Given the description of an element on the screen output the (x, y) to click on. 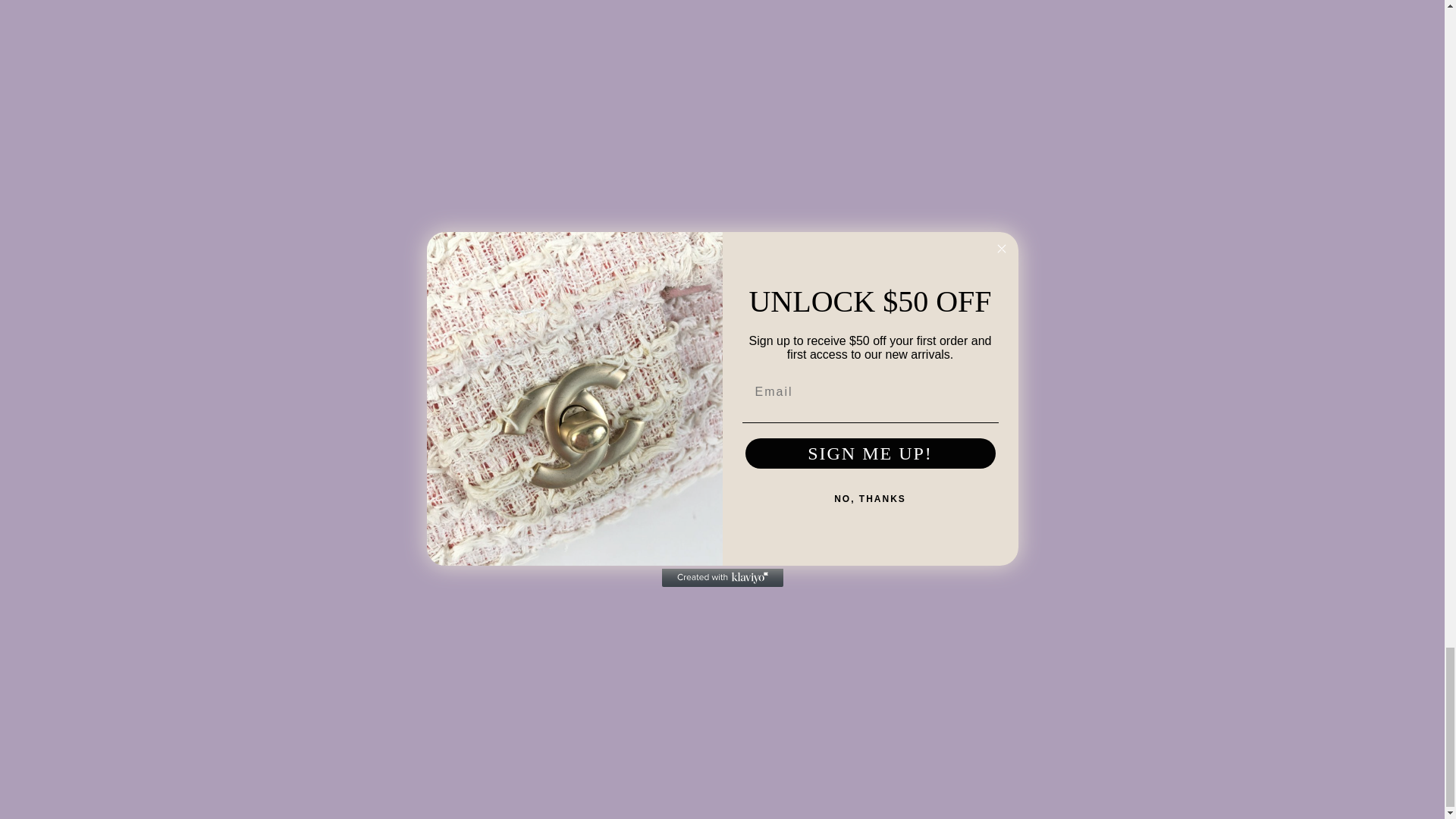
Contact (960, 618)
Company information (1134, 618)
Privacy policy (1114, 600)
Blog (487, 691)
Consignment agreement (1143, 655)
Shop (489, 600)
Our story (965, 600)
Payment terms (1117, 673)
Sustainability (975, 636)
Authentication Policy (996, 673)
Sold Items (504, 673)
FAQ (951, 655)
